Given the description of an element on the screen output the (x, y) to click on. 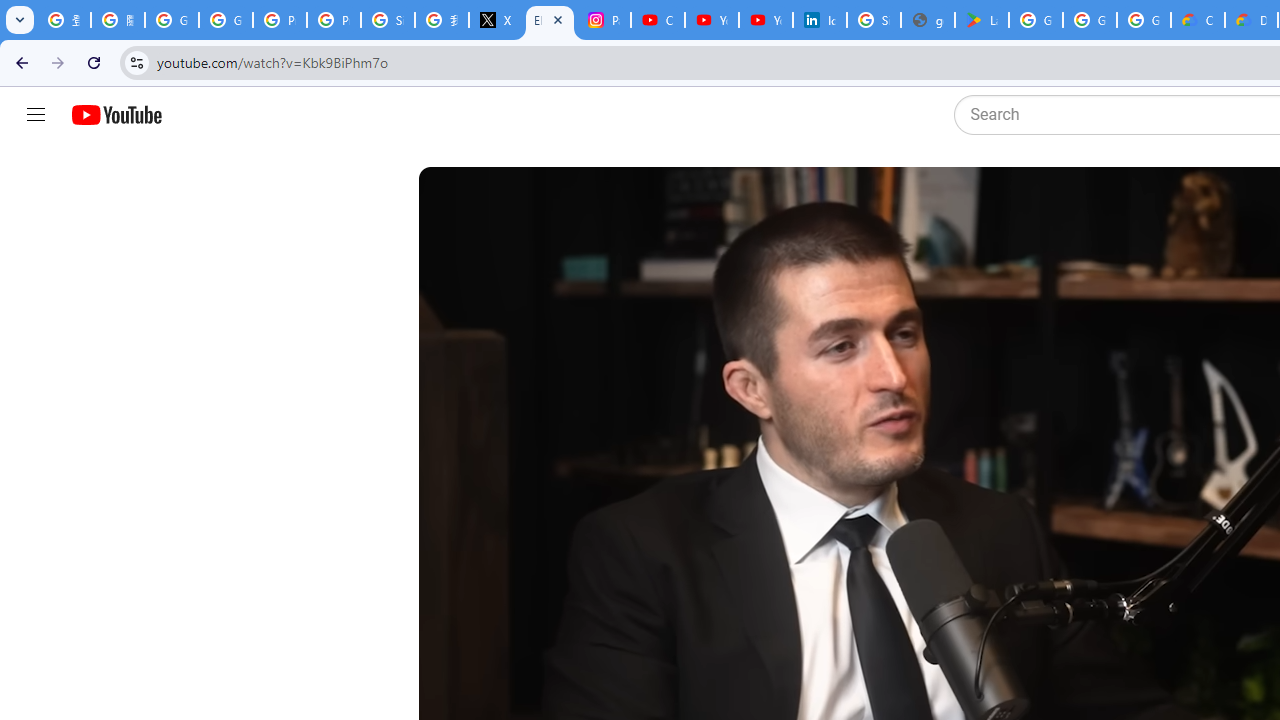
Last Shelter: Survival - Apps on Google Play (981, 20)
Privacy Help Center - Policies Help (333, 20)
Sign in - Google Accounts (387, 20)
X (495, 20)
YouTube Culture & Trends - YouTube Top 10, 2021 (765, 20)
